Given the description of an element on the screen output the (x, y) to click on. 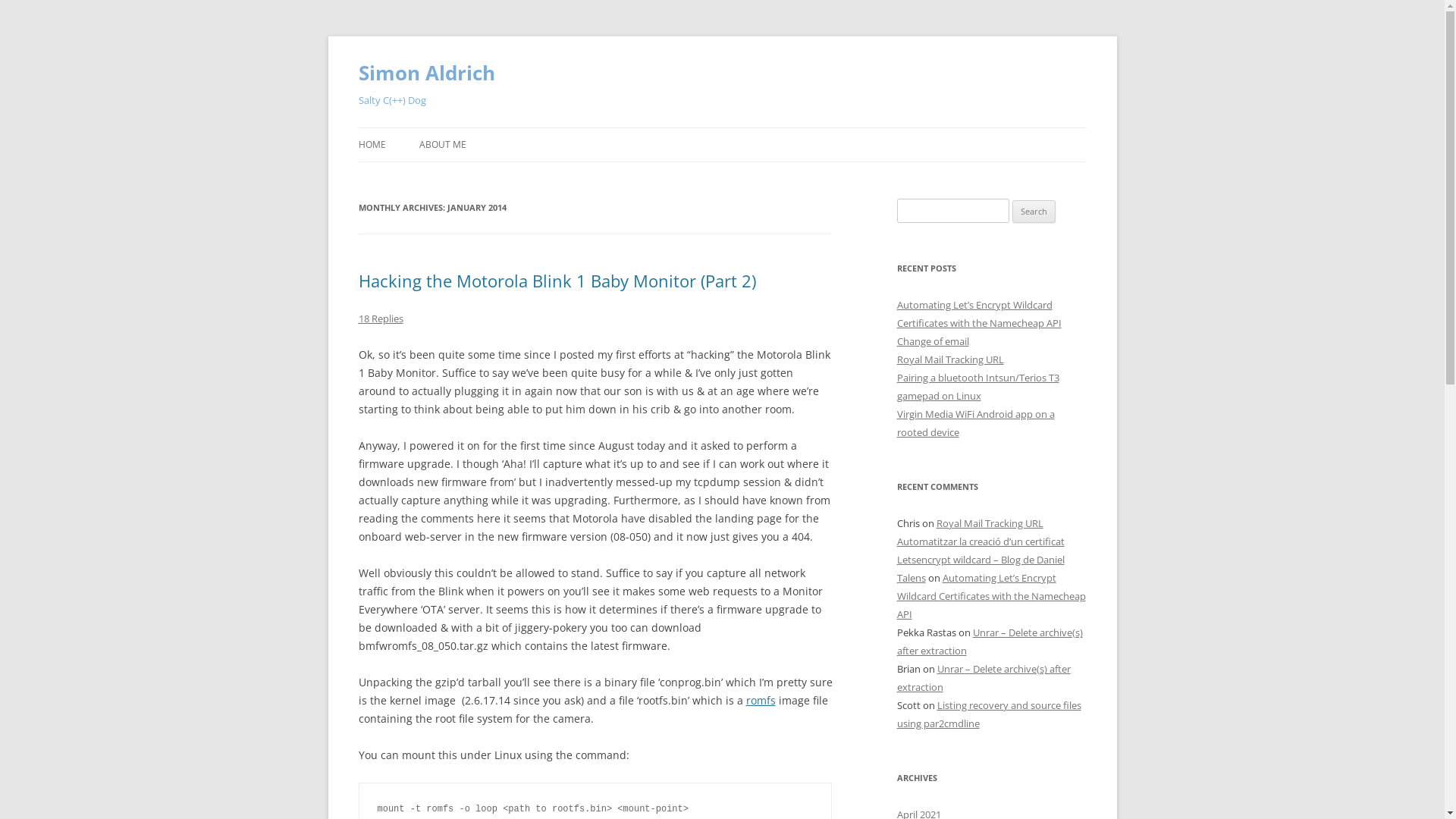
ABOUT ME Element type: text (441, 144)
Search Element type: text (1033, 211)
Pairing a bluetooth Intsun/Terios T3 gamepad on Linux Element type: text (977, 386)
Simon Aldrich Element type: text (425, 72)
HOME Element type: text (371, 144)
Royal Mail Tracking URL Element type: text (988, 523)
Change of email Element type: text (932, 341)
romfs Element type: text (760, 700)
Listing recovery and source files using par2cmdline Element type: text (988, 714)
Royal Mail Tracking URL Element type: text (949, 359)
Hacking the Motorola Blink 1 Baby Monitor (Part 2) Element type: text (556, 280)
Skip to content Element type: text (721, 127)
Virgin Media WiFi Android app on a rooted device Element type: text (975, 423)
18 Replies Element type: text (379, 318)
